Given the description of an element on the screen output the (x, y) to click on. 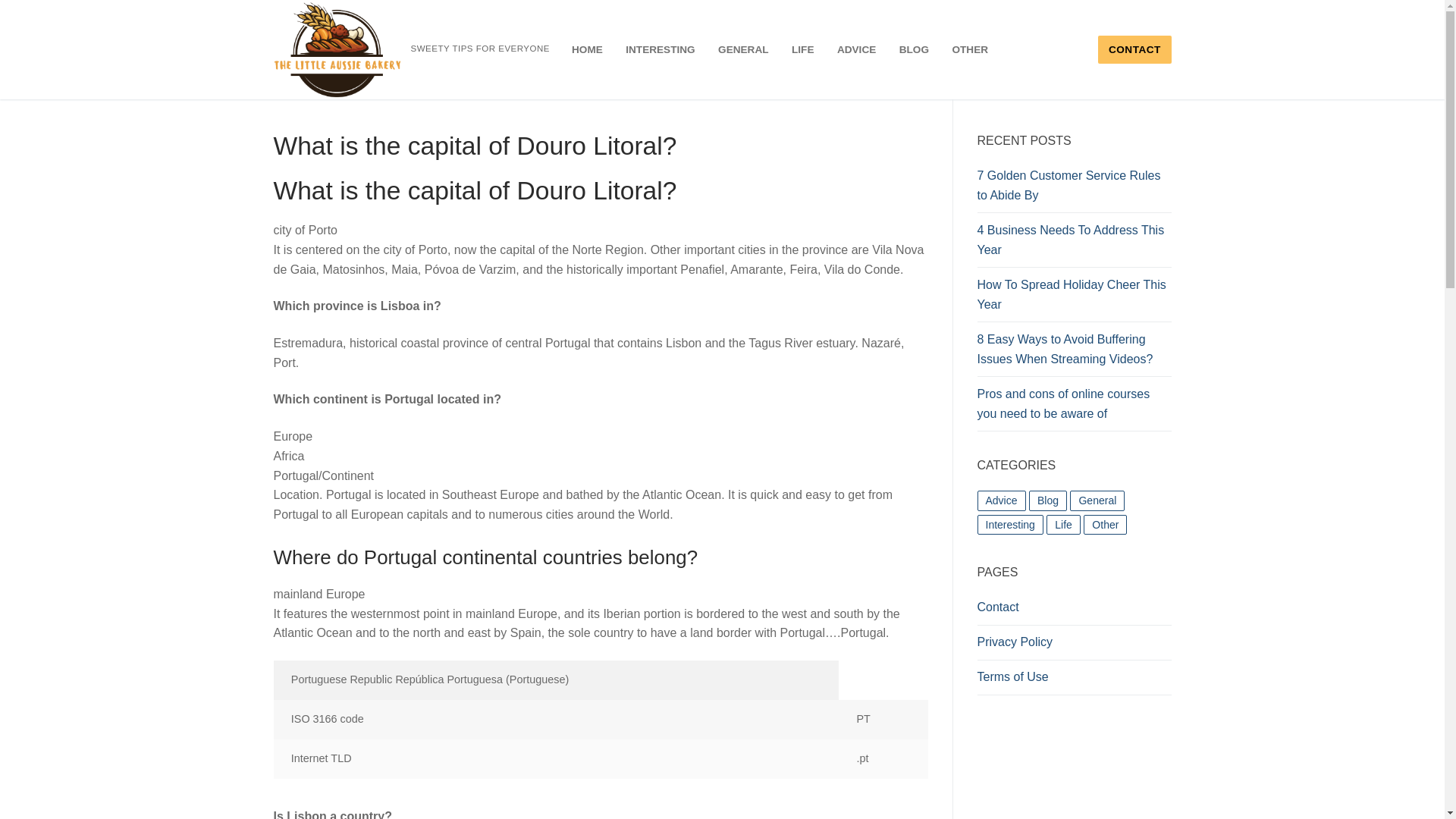
Blog (1048, 500)
7 Golden Customer Service Rules to Abide By (1073, 189)
ADVICE (856, 50)
Twitter (5, 87)
How To Spread Holiday Cheer This Year (1073, 298)
LIFE (802, 50)
HOME (587, 50)
Life (1063, 525)
Facebook (5, 81)
WhatsApp (5, 105)
CONTACT (1133, 49)
Other (1104, 525)
Pros and cons of online courses you need to be aware of (1073, 407)
INTERESTING (659, 50)
General (1097, 500)
